Given the description of an element on the screen output the (x, y) to click on. 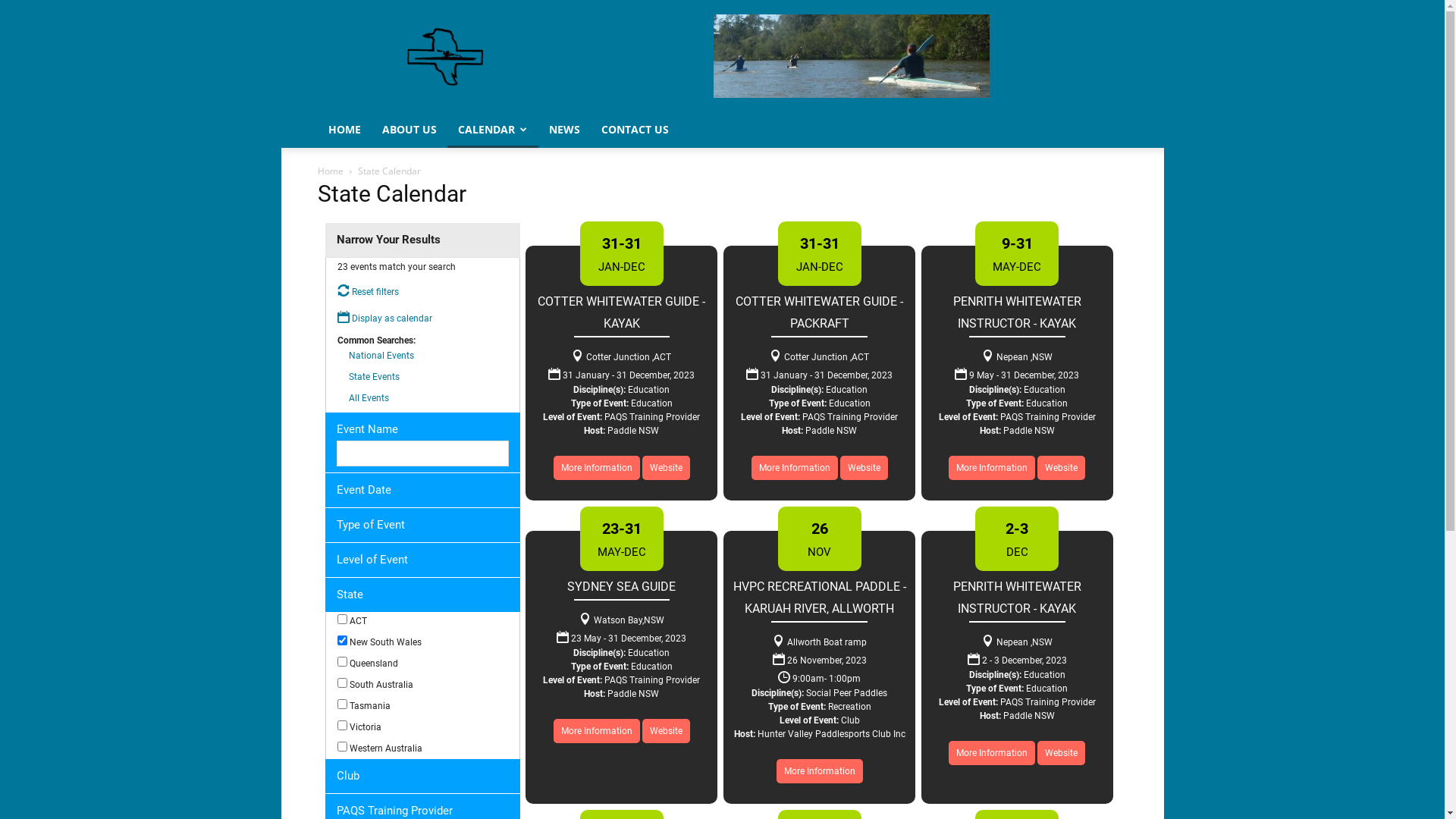
State Events Element type: text (373, 376)
CONTACT US Element type: text (633, 129)
More Information Element type: text (794, 467)
More Information Element type: text (819, 771)
Reset filters Element type: text (367, 291)
HOME Element type: text (343, 129)
More Information Element type: text (596, 730)
Website Element type: text (666, 730)
More Information Element type: text (596, 467)
ABOUT US Element type: text (409, 129)
CALENDAR Element type: text (492, 129)
NEWS Element type: text (564, 129)
Website Element type: text (864, 467)
More Information Element type: text (991, 467)
All Events Element type: text (368, 397)
Website Element type: text (1061, 467)
National Events Element type: text (381, 355)
Website Element type: text (666, 467)
Display as calendar Element type: text (383, 318)
Website Element type: text (1061, 752)
Home Element type: text (329, 170)
More Information Element type: text (991, 752)
